Given the description of an element on the screen output the (x, y) to click on. 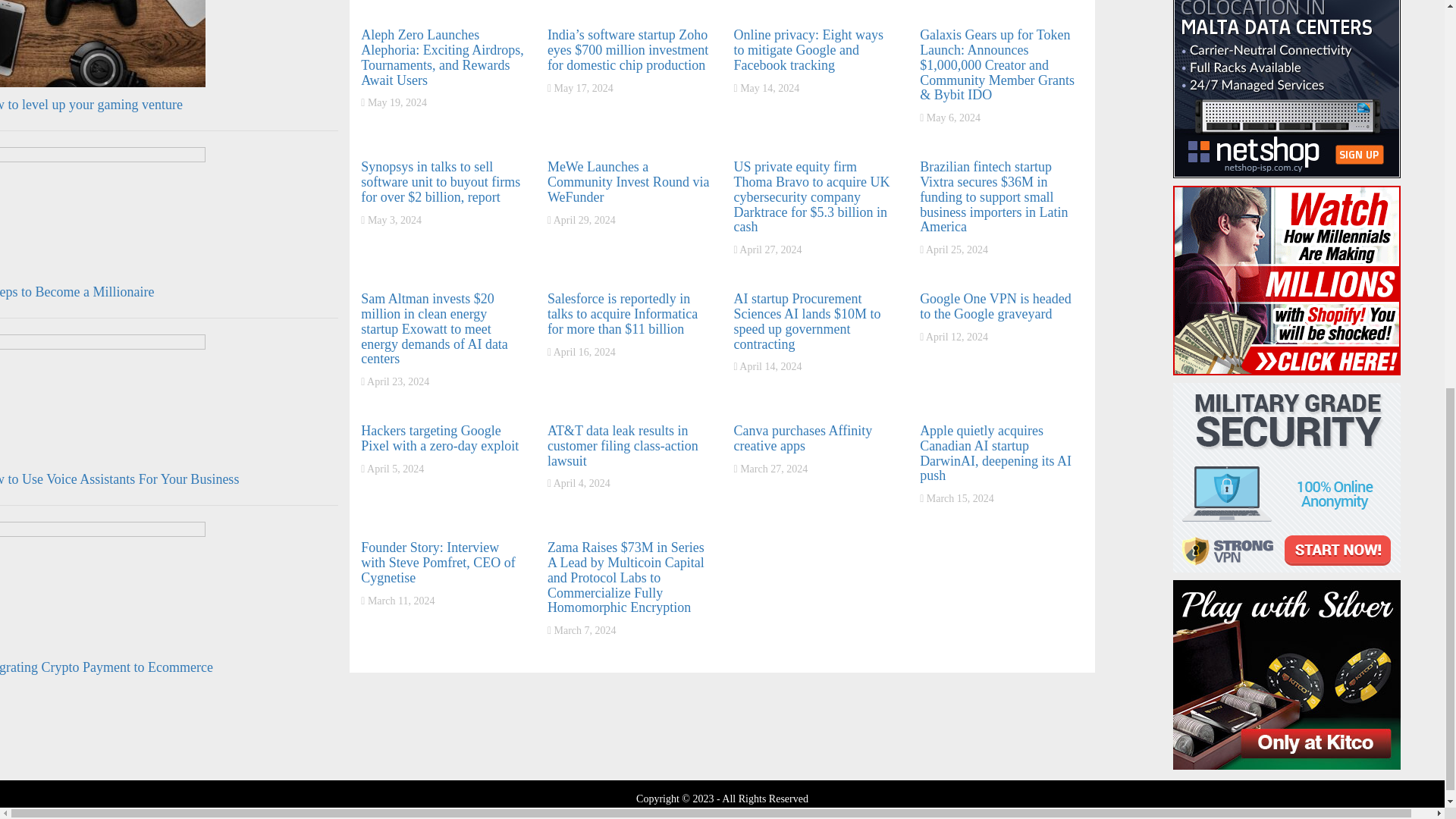
How to Use Voice Assistants For Your Business (119, 478)
Integrating Crypto Payment to Ecommerce (106, 667)
7 Steps to Become a Millionaire (77, 291)
How to level up your gaming venture (91, 104)
